Given the description of an element on the screen output the (x, y) to click on. 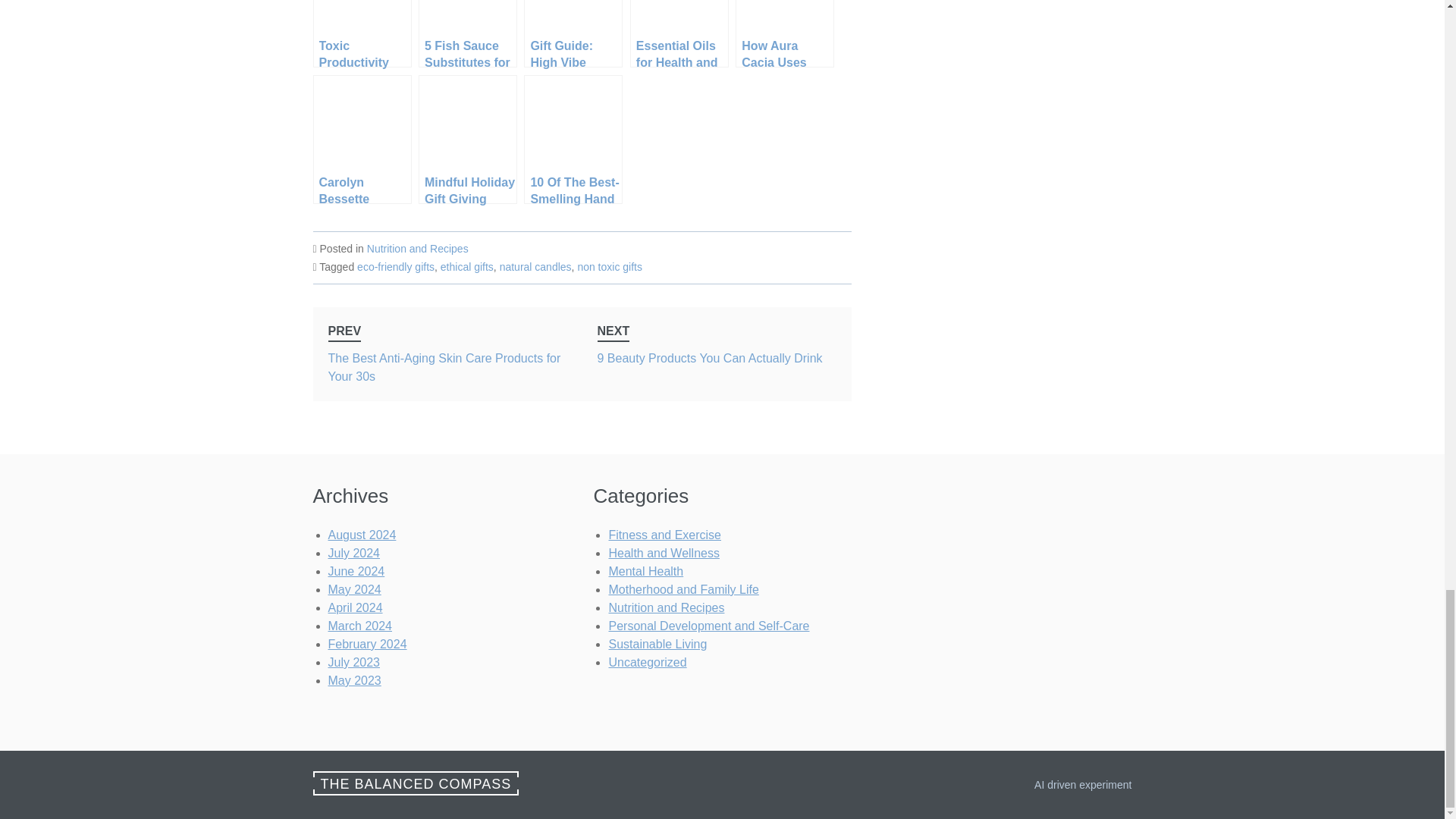
natural candles (716, 354)
5 Fish Sauce Substitutes for Cooking (535, 266)
Gift Guide: High Vibe Home Essentials From Sophia Gushee (467, 33)
eco-friendly gifts (573, 33)
ethical gifts (394, 266)
5 Fish Sauce Substitutes for Cooking (467, 266)
Essential Oils for Health and Emotional Healing (467, 33)
Gift Guide: High Vibe Home Essentials From Sophia Gushee (679, 33)
Nutrition and Recipes (573, 33)
